Given the description of an element on the screen output the (x, y) to click on. 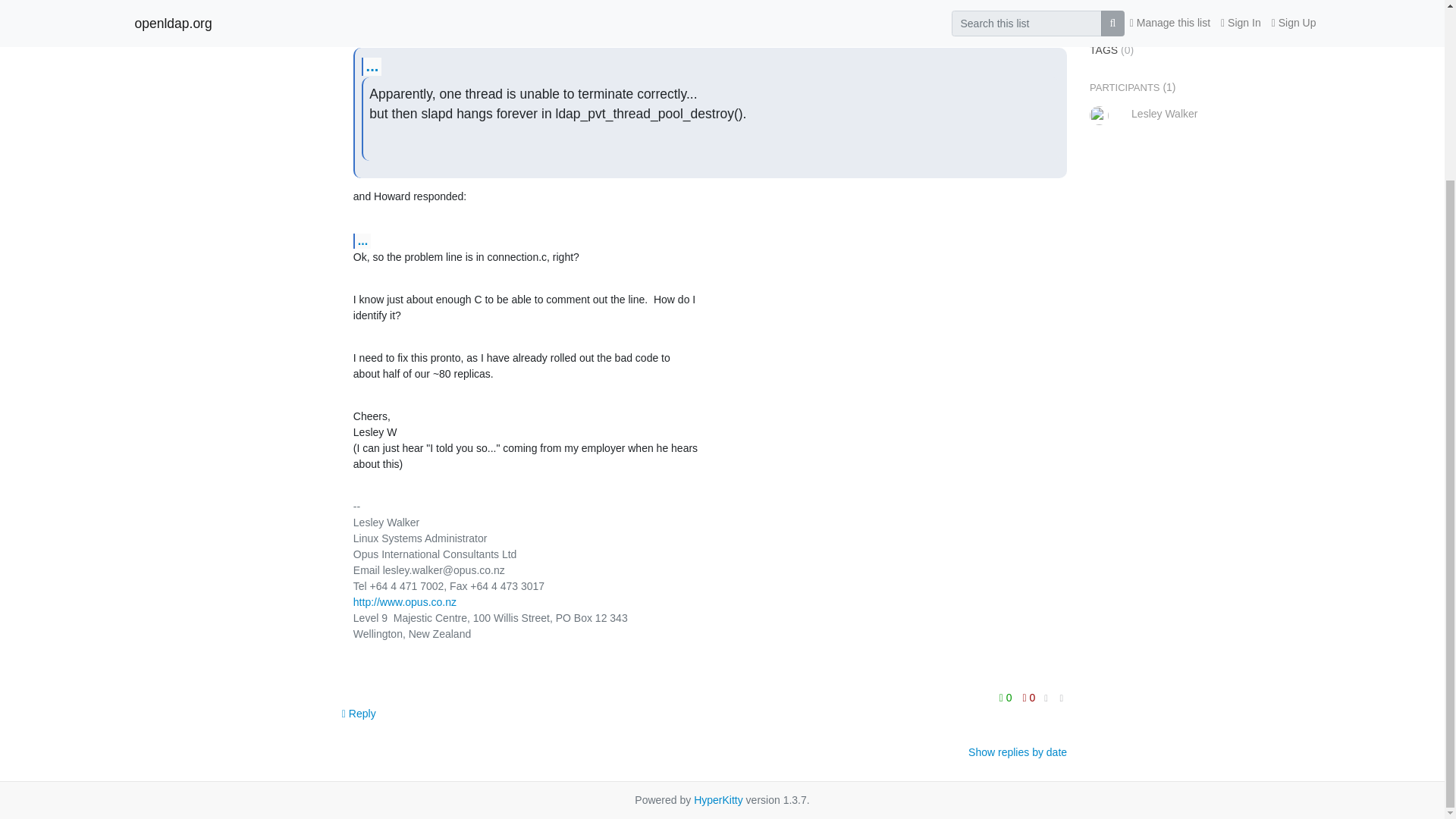
You must be logged-in to vote. (1007, 697)
Sign in to reply online (359, 713)
You must be logged-in to have favorites. (1134, 12)
You must be logged-in to vote. (1029, 697)
